Given the description of an element on the screen output the (x, y) to click on. 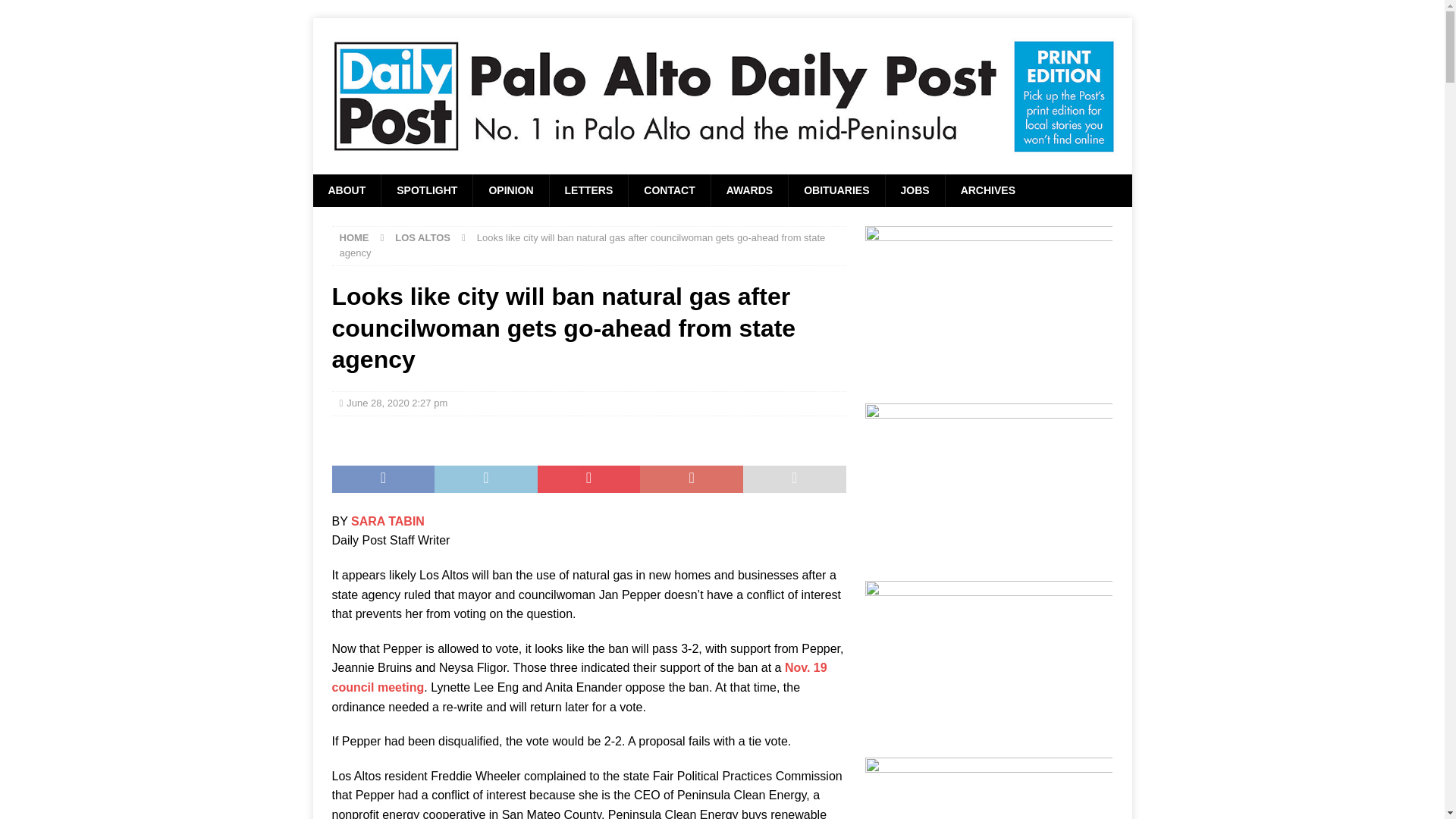
Nov. 19 council meeting (579, 676)
JOBS (914, 190)
SARA TABIN (387, 521)
CONTACT (668, 190)
OPINION (509, 190)
LETTERS (588, 190)
OBITUARIES (835, 190)
June 28, 2020 2:27 pm (396, 402)
SPOTLIGHT (425, 190)
AWARDS (748, 190)
LOS ALTOS (421, 237)
HOME (354, 237)
ARCHIVES (987, 190)
ABOUT (346, 190)
